Given the description of an element on the screen output the (x, y) to click on. 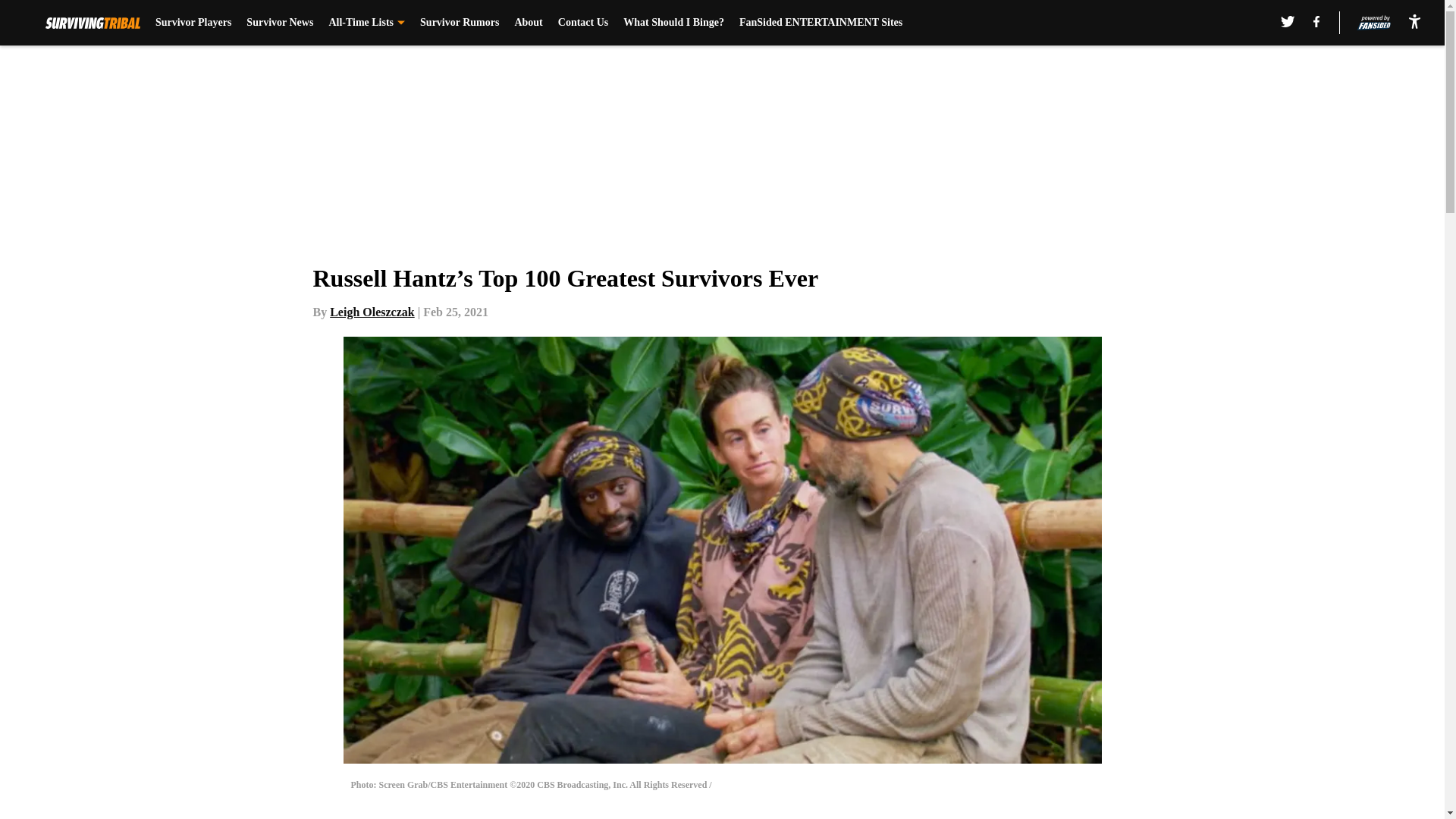
About (527, 22)
Contact Us (582, 22)
Survivor News (279, 22)
Survivor Rumors (459, 22)
FanSided ENTERTAINMENT Sites (820, 22)
What Should I Binge? (673, 22)
Survivor Players (193, 22)
Leigh Oleszczak (372, 311)
